Given the description of an element on the screen output the (x, y) to click on. 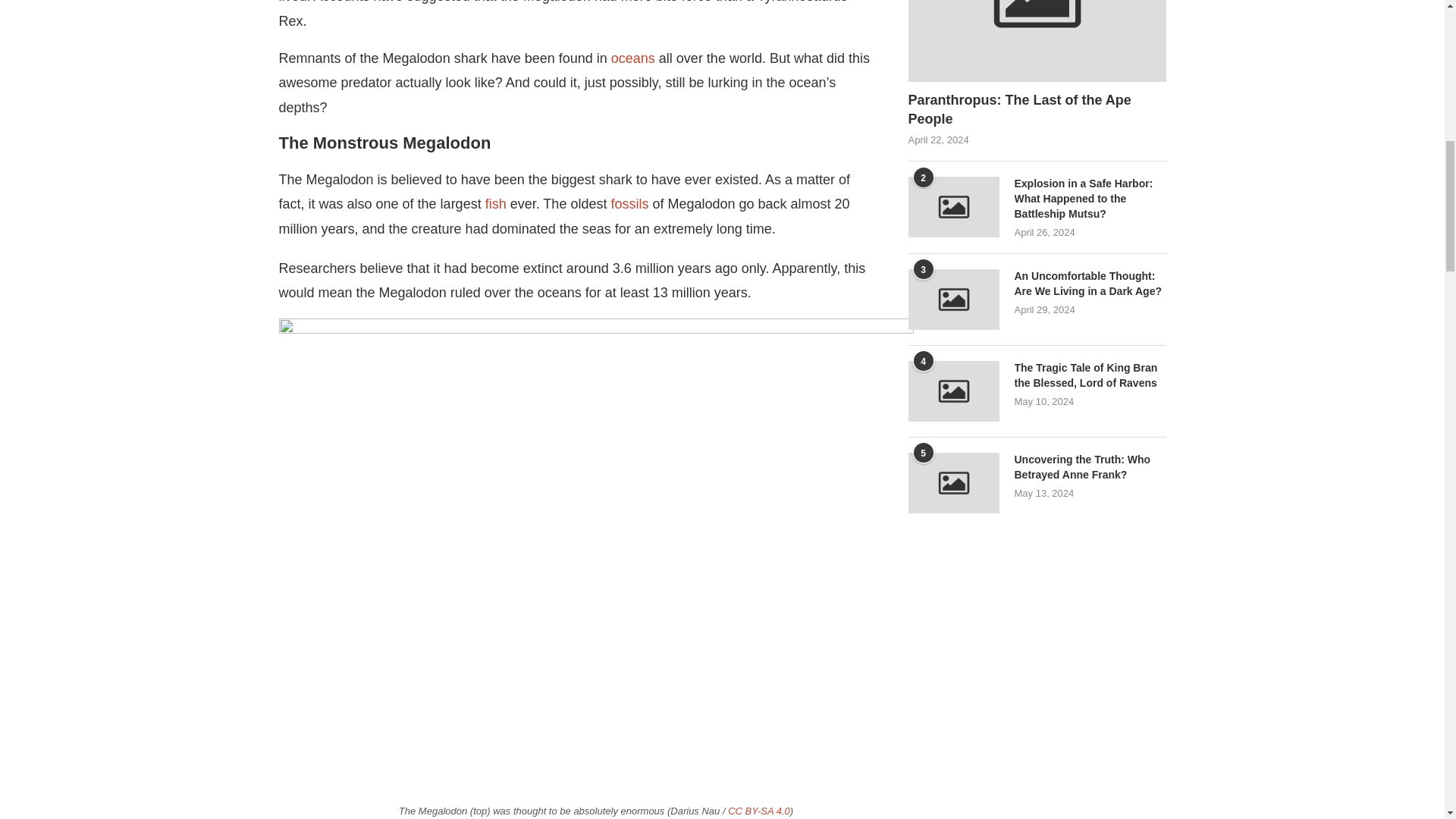
Paranthropus: The Last of the Ape People (1037, 40)
Paranthropus: The Last of the Ape People (1037, 109)
